Given the description of an element on the screen output the (x, y) to click on. 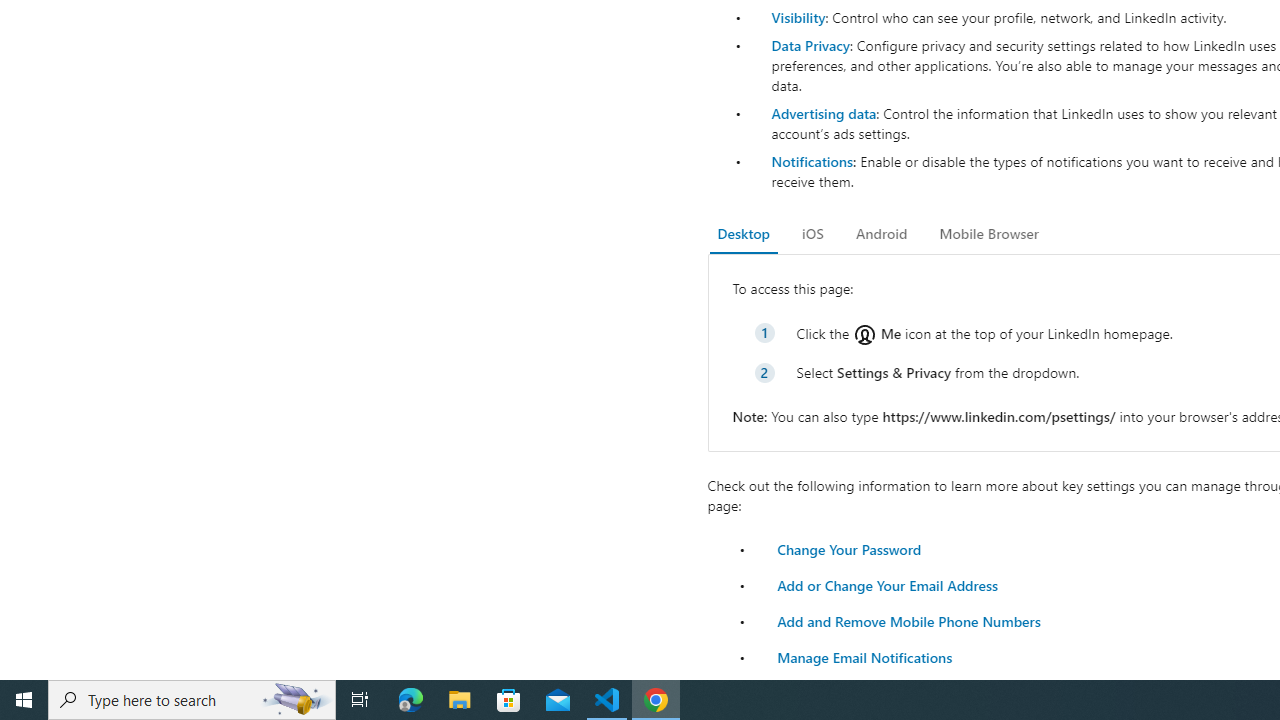
iOS (812, 234)
Android (881, 234)
Add and Remove Mobile Phone Numbers (908, 620)
Manage Email Notifications (864, 656)
Data Privacy (809, 44)
Desktop (744, 234)
Notifications (811, 161)
Change Your Password (848, 548)
Visibility (797, 17)
Mobile Browser (988, 234)
Advertising data (823, 112)
Add or Change Your Email Address (887, 584)
